Given the description of an element on the screen output the (x, y) to click on. 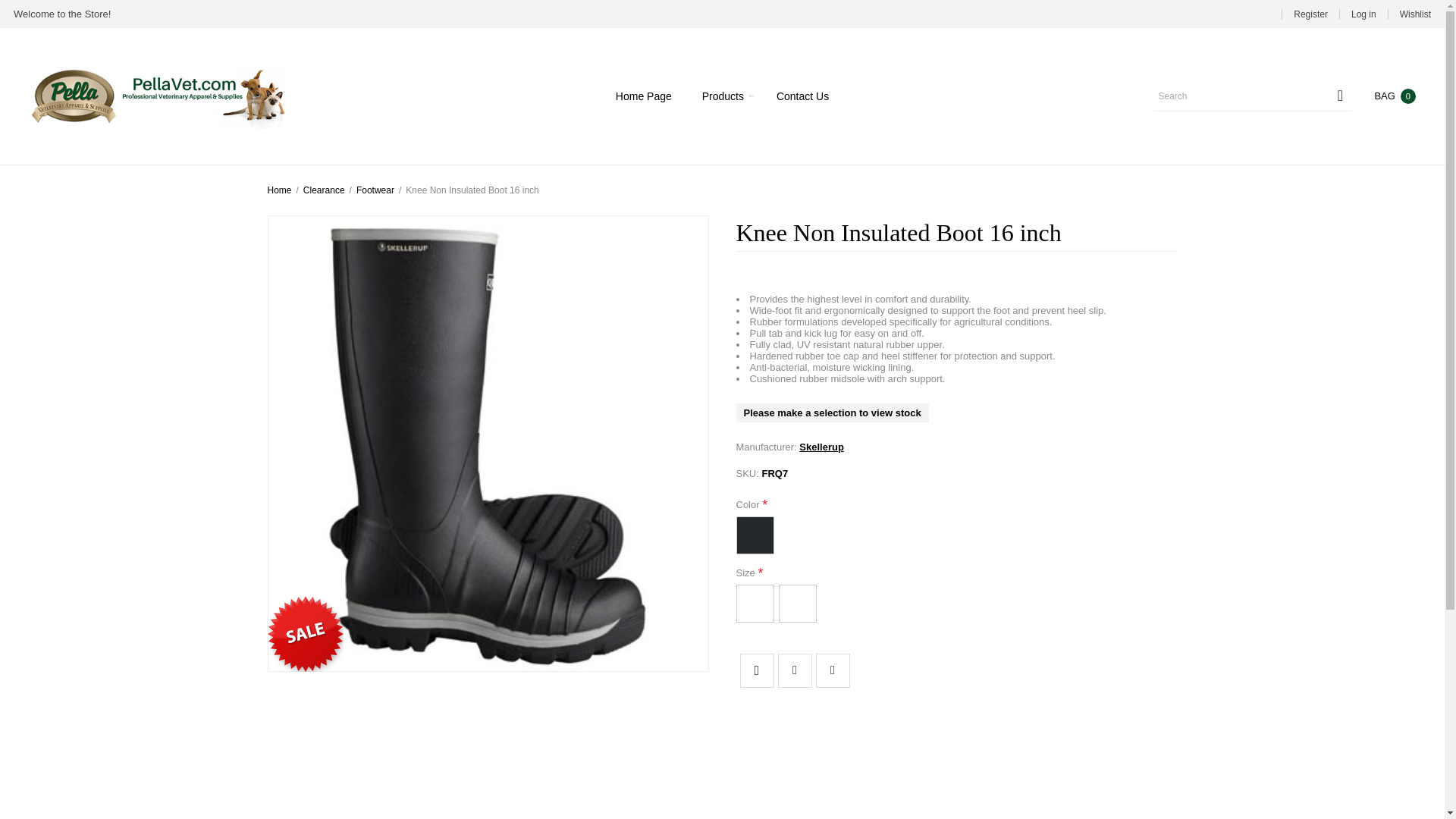
Home Page (643, 96)
Contact Us (802, 96)
Wishlist (1415, 14)
Register (1310, 14)
Home Page (643, 96)
Log in (1363, 14)
